Given the description of an element on the screen output the (x, y) to click on. 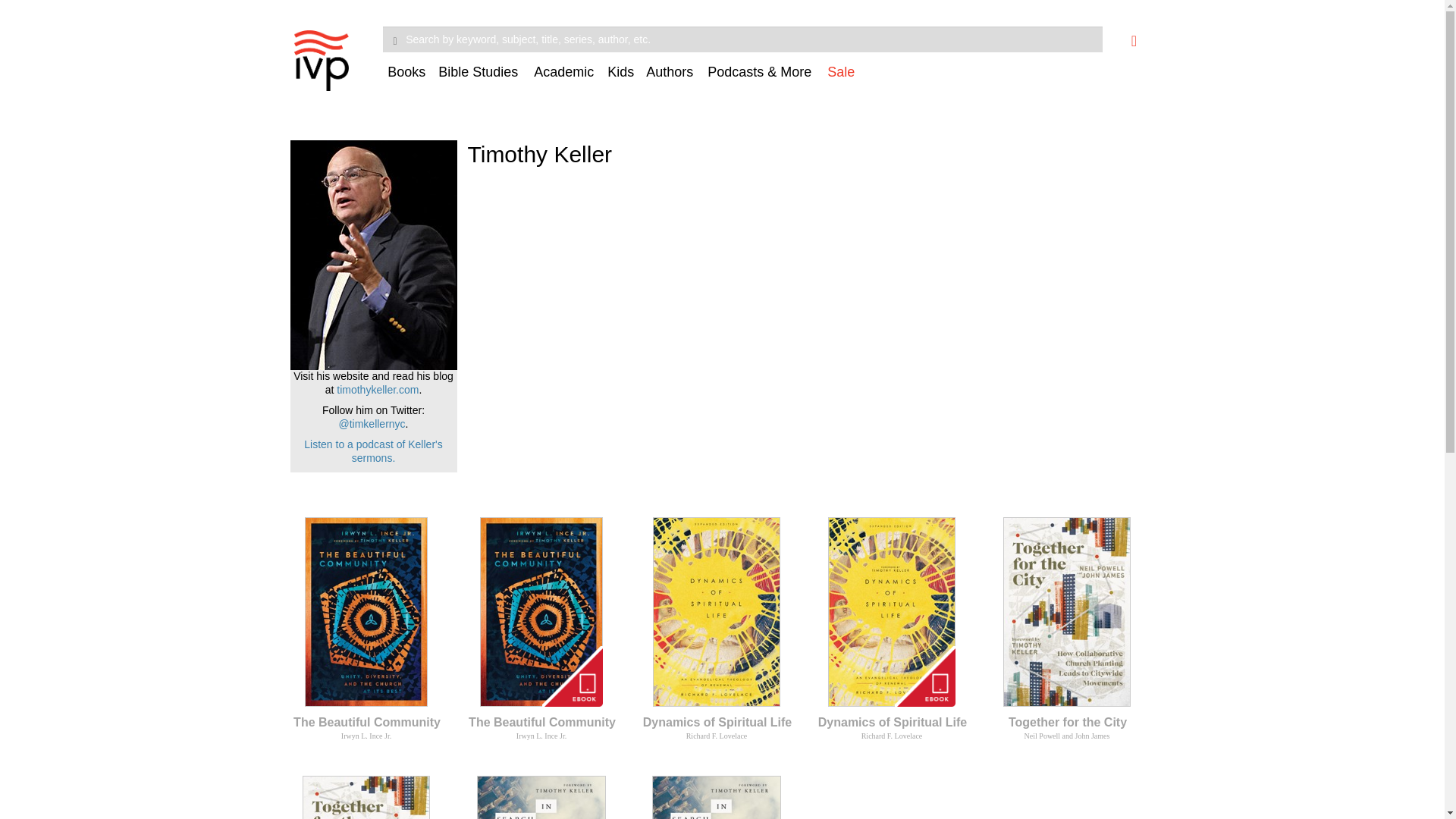
In Search of the Common Good (716, 797)
Academic (565, 77)
In Search of the Common Good (541, 797)
Together for the City (365, 797)
Books (407, 77)
Bible Studies (481, 77)
Kids (622, 77)
